Given the description of an element on the screen output the (x, y) to click on. 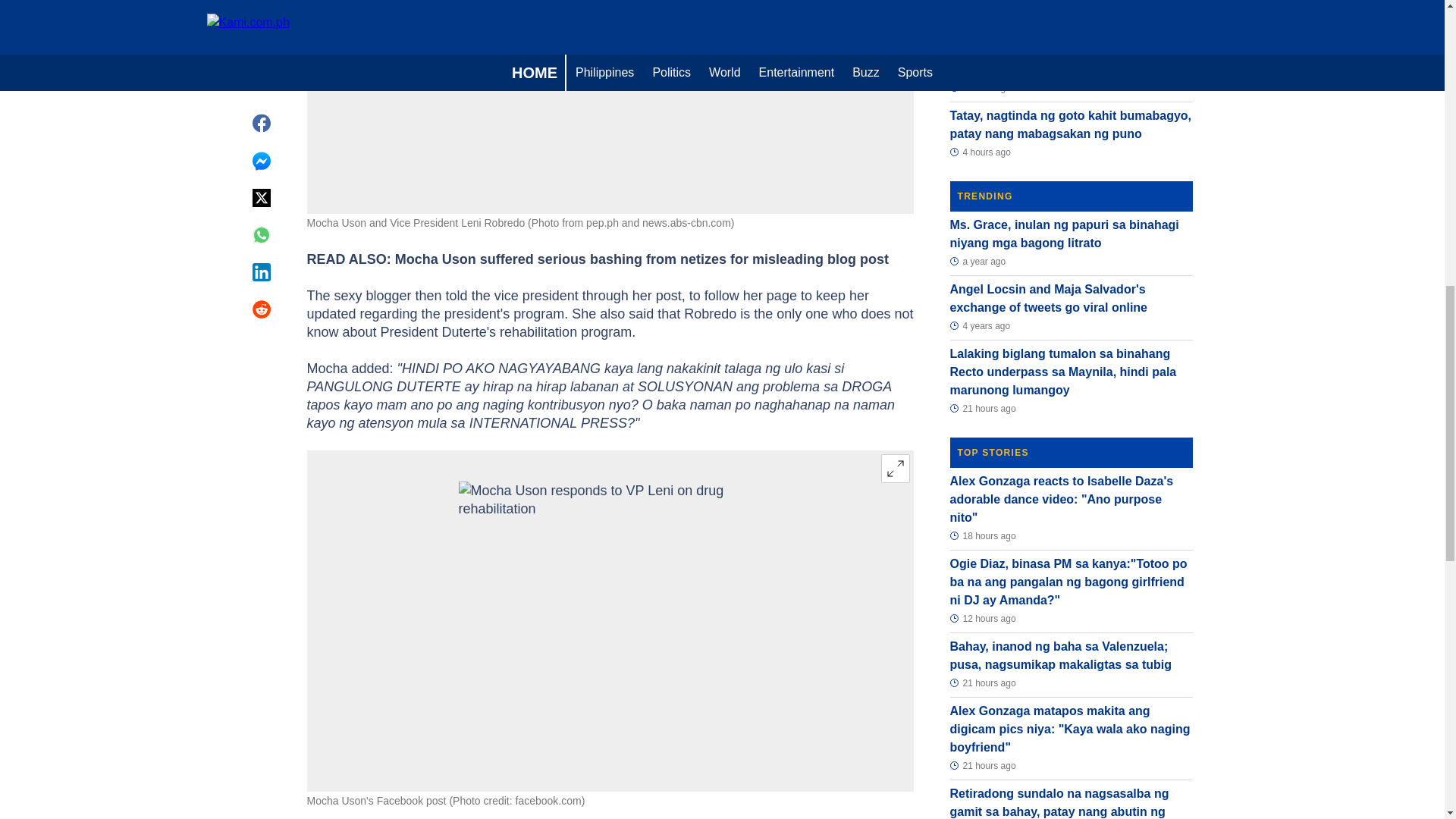
Mocha Uson responds to VP Leni on drug rehabilitation (609, 70)
Expand image (895, 468)
Mocha Uson responds to VP Leni on drug rehabilitation (609, 620)
